Given the description of an element on the screen output the (x, y) to click on. 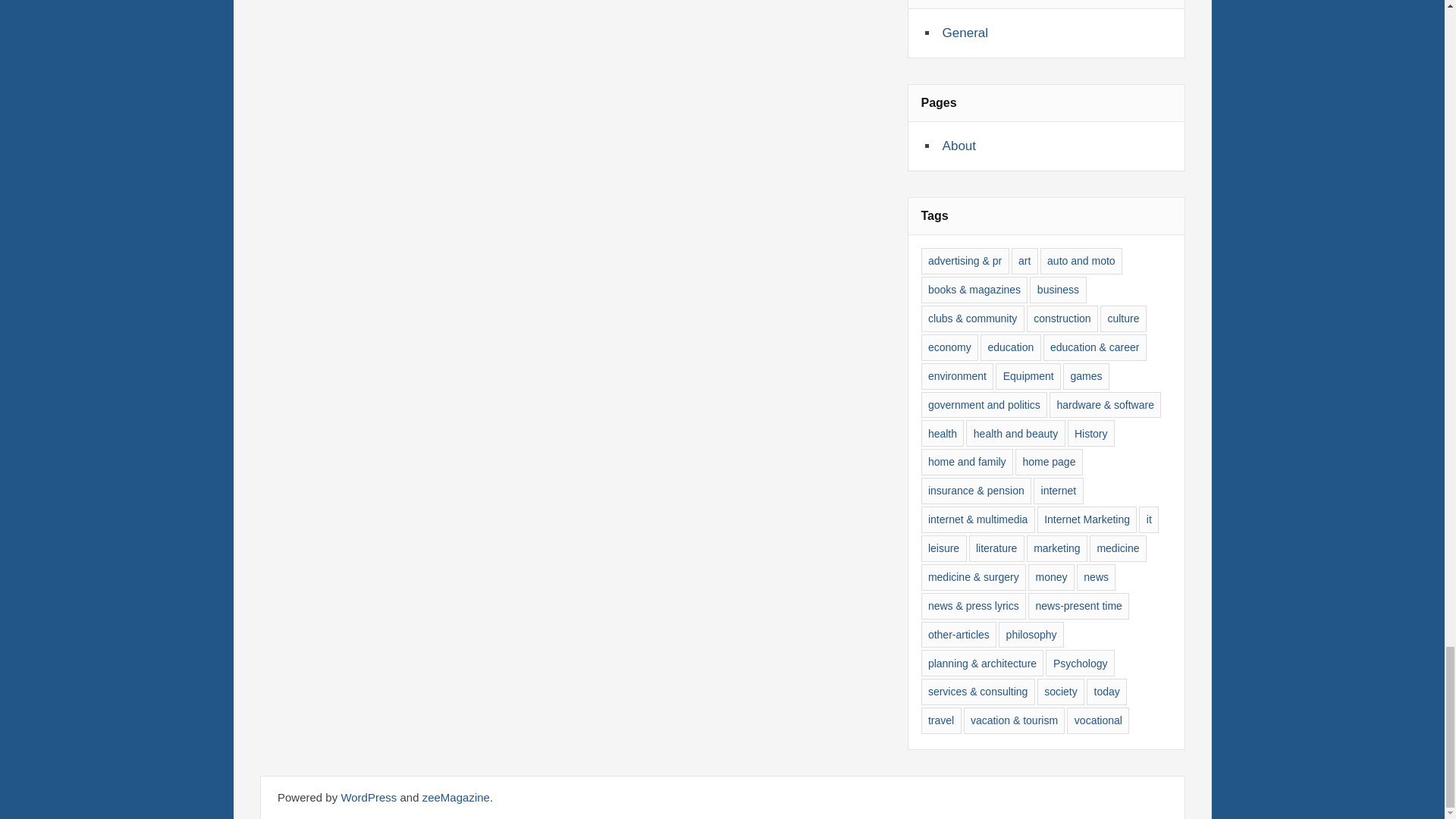
zeeMagazine WordPress Theme (455, 797)
WordPress (368, 797)
